Given the description of an element on the screen output the (x, y) to click on. 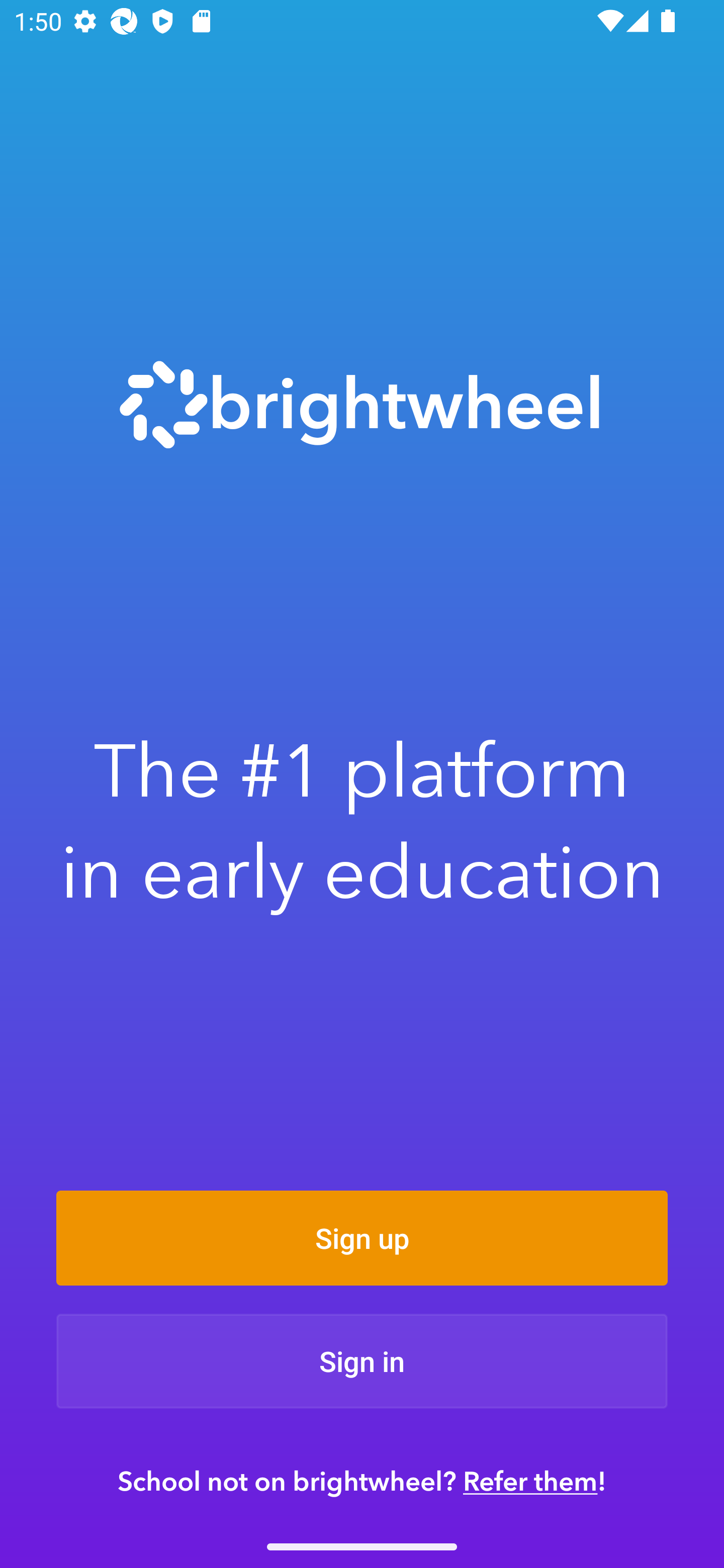
Sign up (361, 1237)
Sign in (361, 1360)
School not on brightwheel? Refer them! (361, 1480)
